Given the description of an element on the screen output the (x, y) to click on. 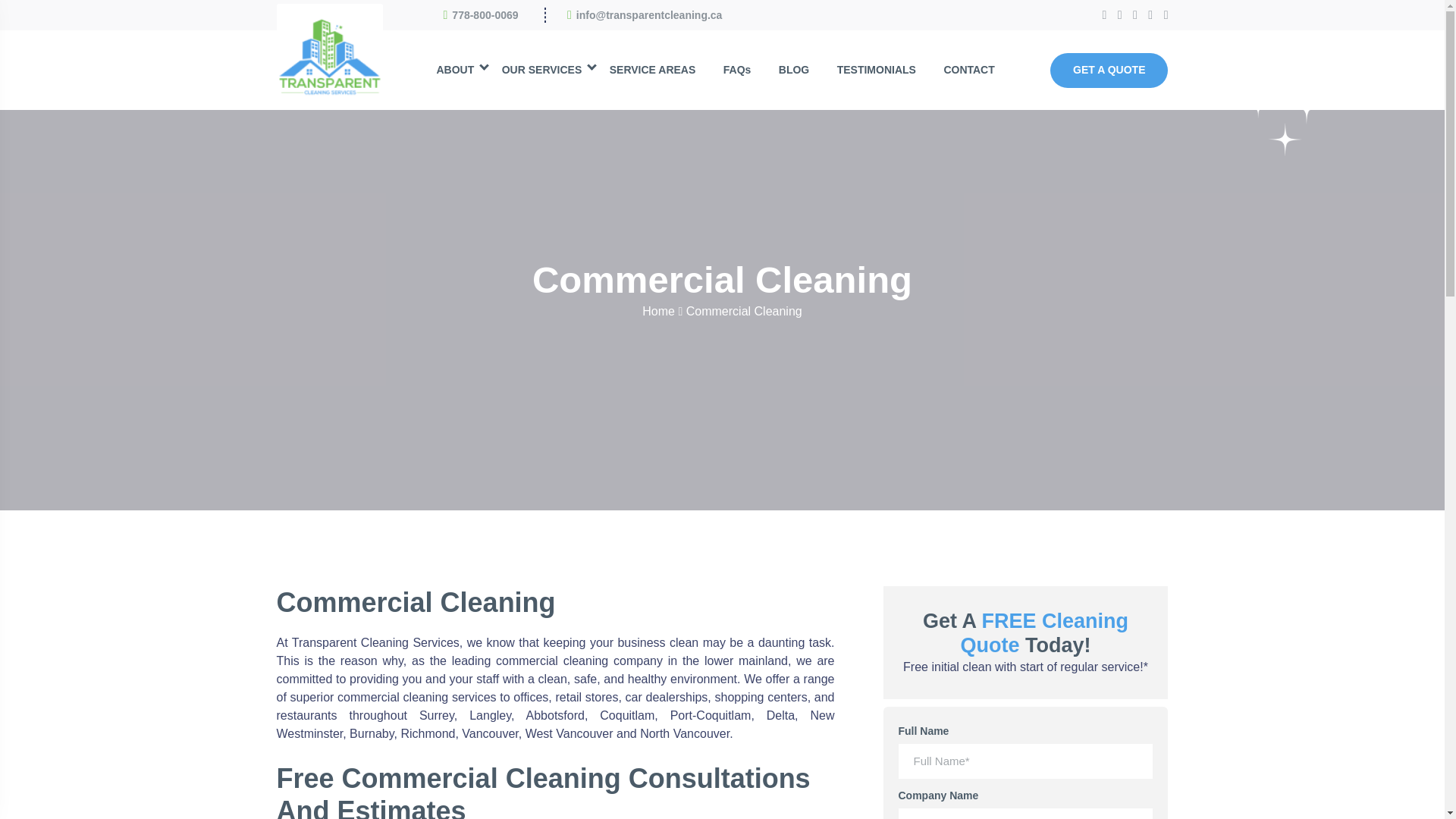
TESTIMONIALS (876, 69)
778-800-0069 (484, 15)
SERVICE AREAS (651, 69)
CONTACT (968, 69)
OUR SERVICES (541, 69)
GET A QUOTE (1108, 70)
